Given the description of an element on the screen output the (x, y) to click on. 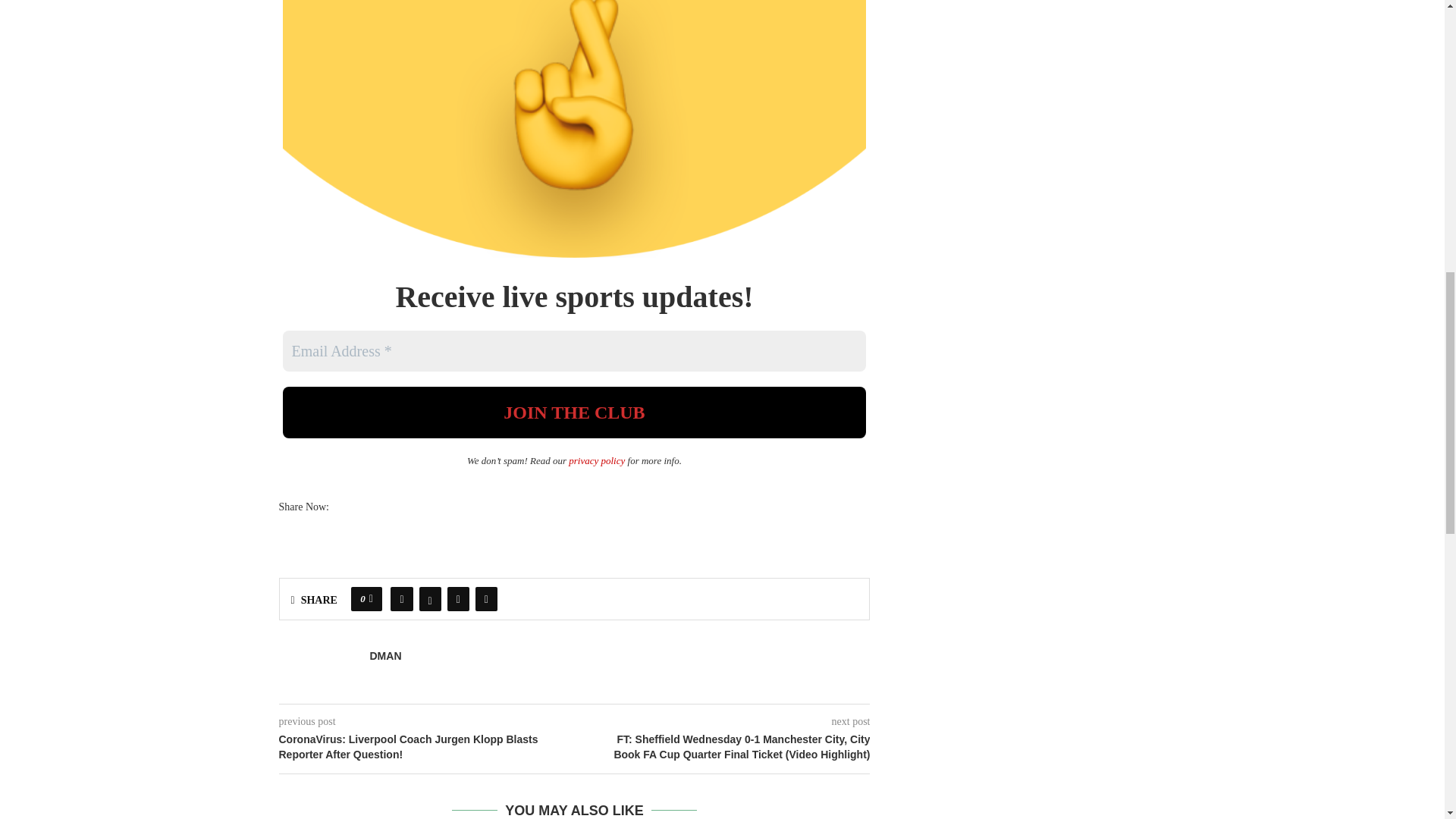
Email Address (574, 350)
JOIN THE CLUB (574, 412)
Author Dman (385, 656)
